Given the description of an element on the screen output the (x, y) to click on. 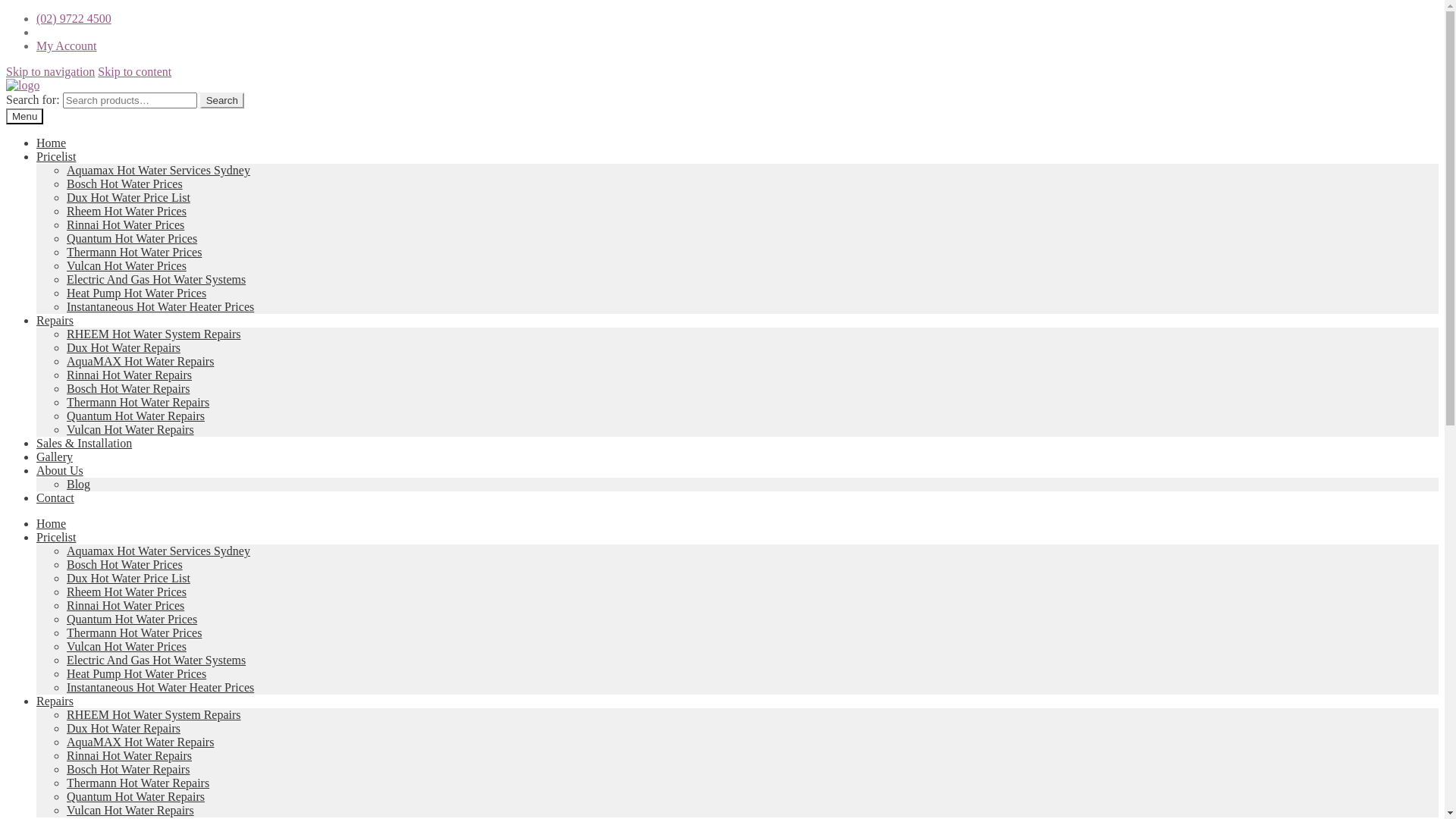
Heat Pump Hot Water Prices Element type: text (136, 292)
Thermann Hot Water Repairs Element type: text (137, 782)
About Us Element type: text (59, 470)
Menu Element type: text (24, 116)
Skip to content Element type: text (134, 71)
Rinnai Hot Water Repairs Element type: text (128, 755)
Repairs Element type: text (54, 700)
Pricelist Element type: text (55, 536)
Home Element type: text (50, 523)
Quantum Hot Water Prices Element type: text (131, 618)
Dux Hot Water Price List Element type: text (128, 197)
Vulcan Hot Water Repairs Element type: text (130, 429)
Gallery Element type: text (54, 456)
Electric And Gas Hot Water Systems Element type: text (155, 279)
AquaMAX Hot Water Repairs Element type: text (139, 360)
Pricelist Element type: text (55, 156)
Rheem Hot Water Prices Element type: text (126, 210)
RHEEM Hot Water System Repairs Element type: text (153, 333)
Rinnai Hot Water Prices Element type: text (125, 605)
Thermann Hot Water Prices Element type: text (133, 632)
Sales & Installation Element type: text (83, 442)
Heat Pump Hot Water Prices Element type: text (136, 673)
Rinnai Hot Water Repairs Element type: text (128, 374)
Thermann Hot Water Prices Element type: text (133, 251)
Blog Element type: text (78, 483)
Search Element type: text (222, 100)
Instantaneous Hot Water Heater Prices Element type: text (160, 306)
Quantum Hot Water Repairs Element type: text (135, 796)
Bosch Hot Water Repairs Element type: text (127, 388)
Rinnai Hot Water Prices Element type: text (125, 224)
Bosch Hot Water Repairs Element type: text (127, 768)
Dux Hot Water Price List Element type: text (128, 577)
Skip to navigation Element type: text (50, 71)
Electric And Gas Hot Water Systems Element type: text (155, 659)
Quantum Hot Water Prices Element type: text (131, 238)
Vulcan Hot Water Prices Element type: text (126, 646)
Vulcan Hot Water Prices Element type: text (126, 265)
RHEEM Hot Water System Repairs Element type: text (153, 714)
Contact Element type: text (55, 497)
Bosch Hot Water Prices Element type: text (124, 183)
Aquamax Hot Water Services Sydney Element type: text (158, 550)
Thermann Hot Water Repairs Element type: text (137, 401)
AquaMAX Hot Water Repairs Element type: text (139, 741)
Quantum Hot Water Repairs Element type: text (135, 415)
Dux Hot Water Repairs Element type: text (123, 347)
Instantaneous Hot Water Heater Prices Element type: text (160, 686)
Rheem Hot Water Prices Element type: text (126, 591)
Aquamax Hot Water Services Sydney Element type: text (158, 169)
Vulcan Hot Water Repairs Element type: text (130, 809)
Repairs Element type: text (54, 319)
(02) 9722 4500 Element type: text (73, 18)
Home Element type: text (50, 142)
Dux Hot Water Repairs Element type: text (123, 727)
My Account Element type: text (66, 45)
Bosch Hot Water Prices Element type: text (124, 564)
